Given the description of an element on the screen output the (x, y) to click on. 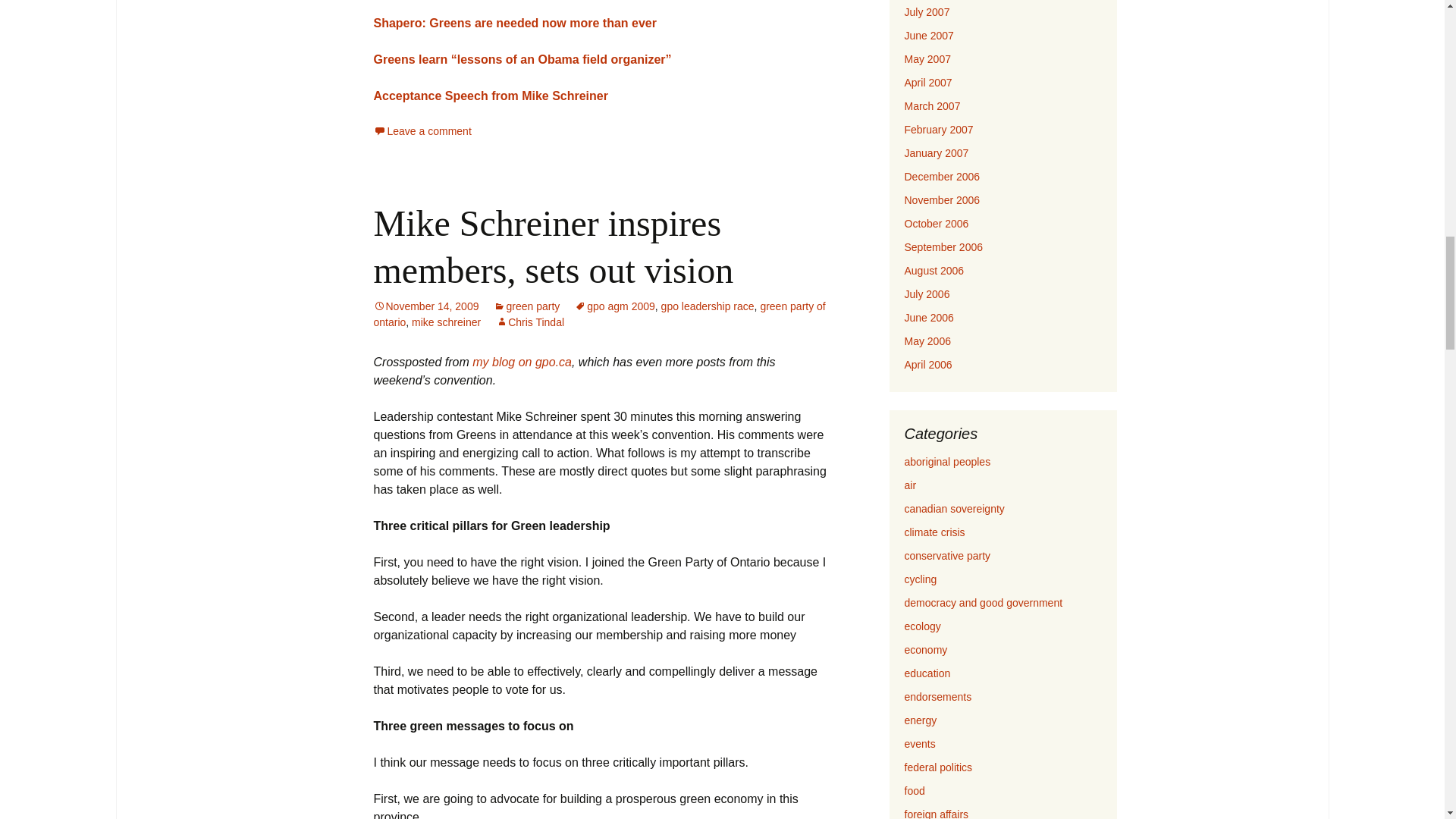
Mike Schreiner inspires members, sets out vision (552, 246)
my blog on gpo.ca (521, 361)
Leave a comment (421, 131)
green party of ontario (598, 314)
Acceptance Speech from Mike Schreiner (489, 95)
November 14, 2009 (425, 306)
green party (526, 306)
Shapero: Greens are needed now more than ever (514, 22)
gpo agm 2009 (615, 306)
View all posts by Chris Tindal (530, 322)
